Given the description of an element on the screen output the (x, y) to click on. 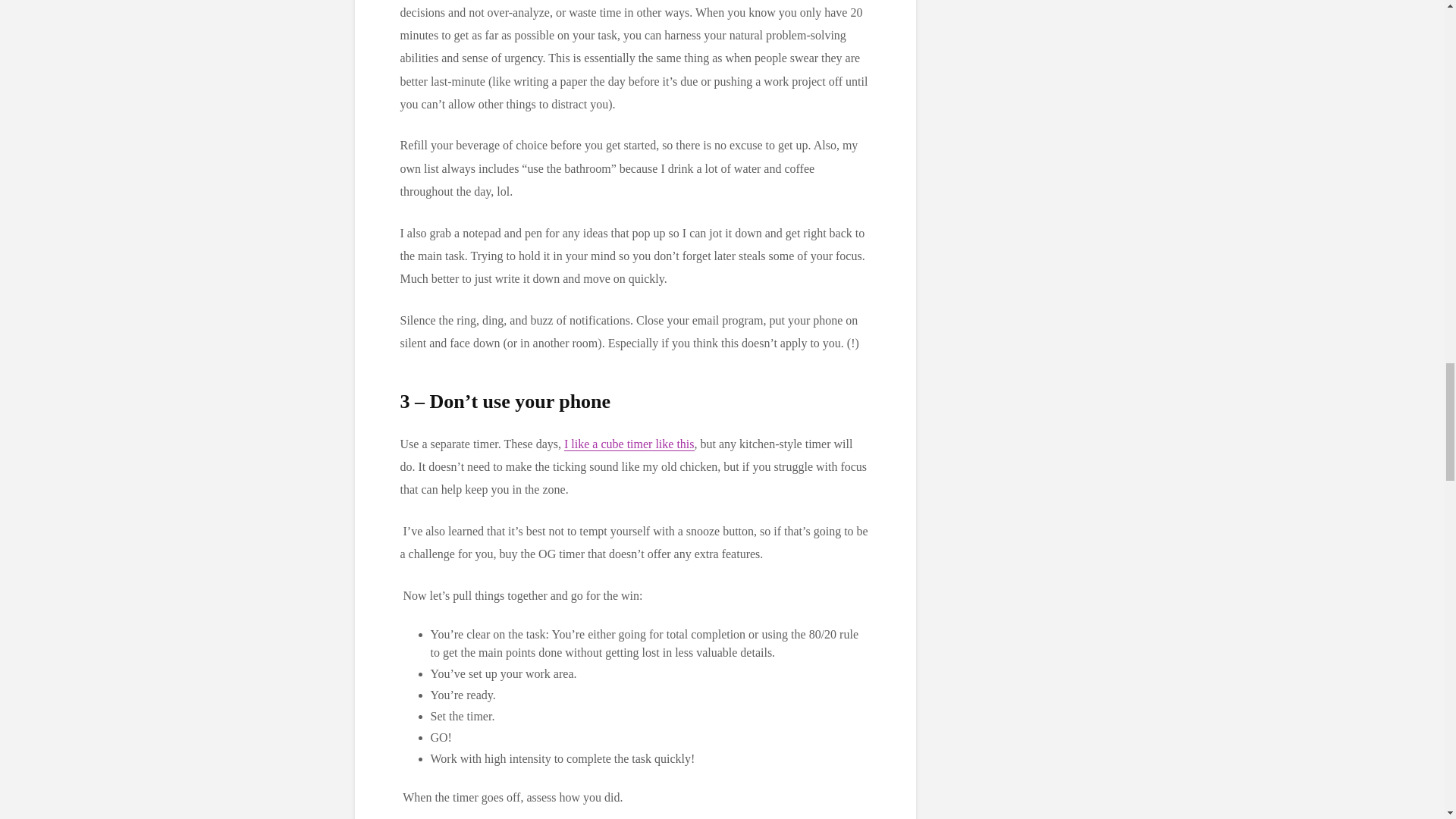
I like a cube timer like this (629, 444)
